Given the description of an element on the screen output the (x, y) to click on. 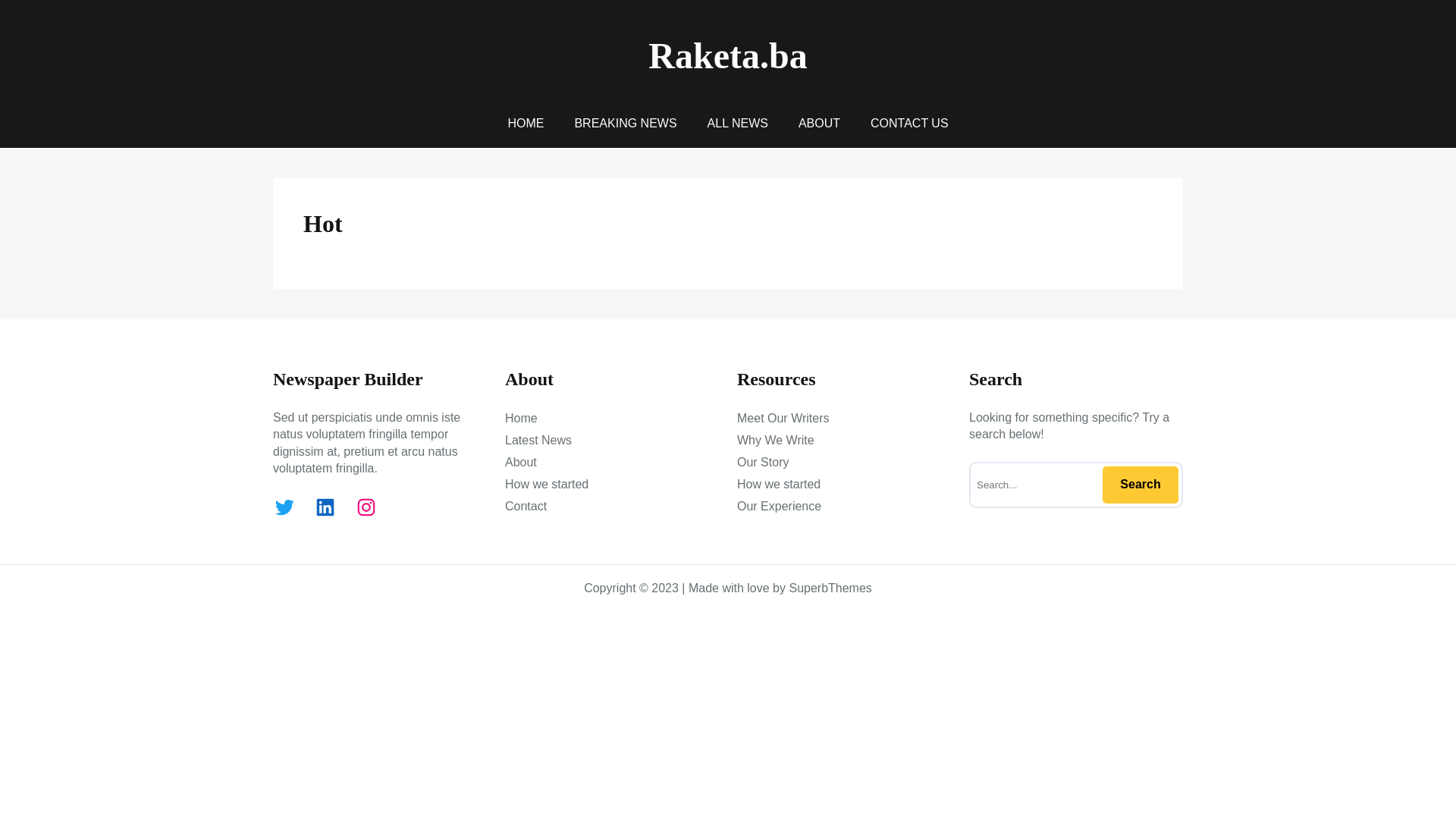
About Element type: text (520, 462)
BREAKING NEWS Element type: text (625, 123)
CONTACT US Element type: text (909, 123)
Why We Write Element type: text (775, 440)
SuperbThemes Element type: text (829, 587)
Instagram Element type: text (365, 506)
How we started Element type: text (778, 484)
Our Story Element type: text (762, 462)
ABOUT Element type: text (819, 123)
Our Experience Element type: text (779, 506)
Latest News Element type: text (538, 440)
HOME Element type: text (525, 123)
Contact Element type: text (525, 506)
Home Element type: text (521, 418)
Meet Our Writers Element type: text (783, 418)
ALL NEWS Element type: text (737, 123)
LinkedIn Element type: text (324, 506)
How we started Element type: text (546, 484)
Raketa.ba Element type: text (727, 55)
Twitter Element type: text (284, 506)
Search Element type: text (1140, 484)
